Given the description of an element on the screen output the (x, y) to click on. 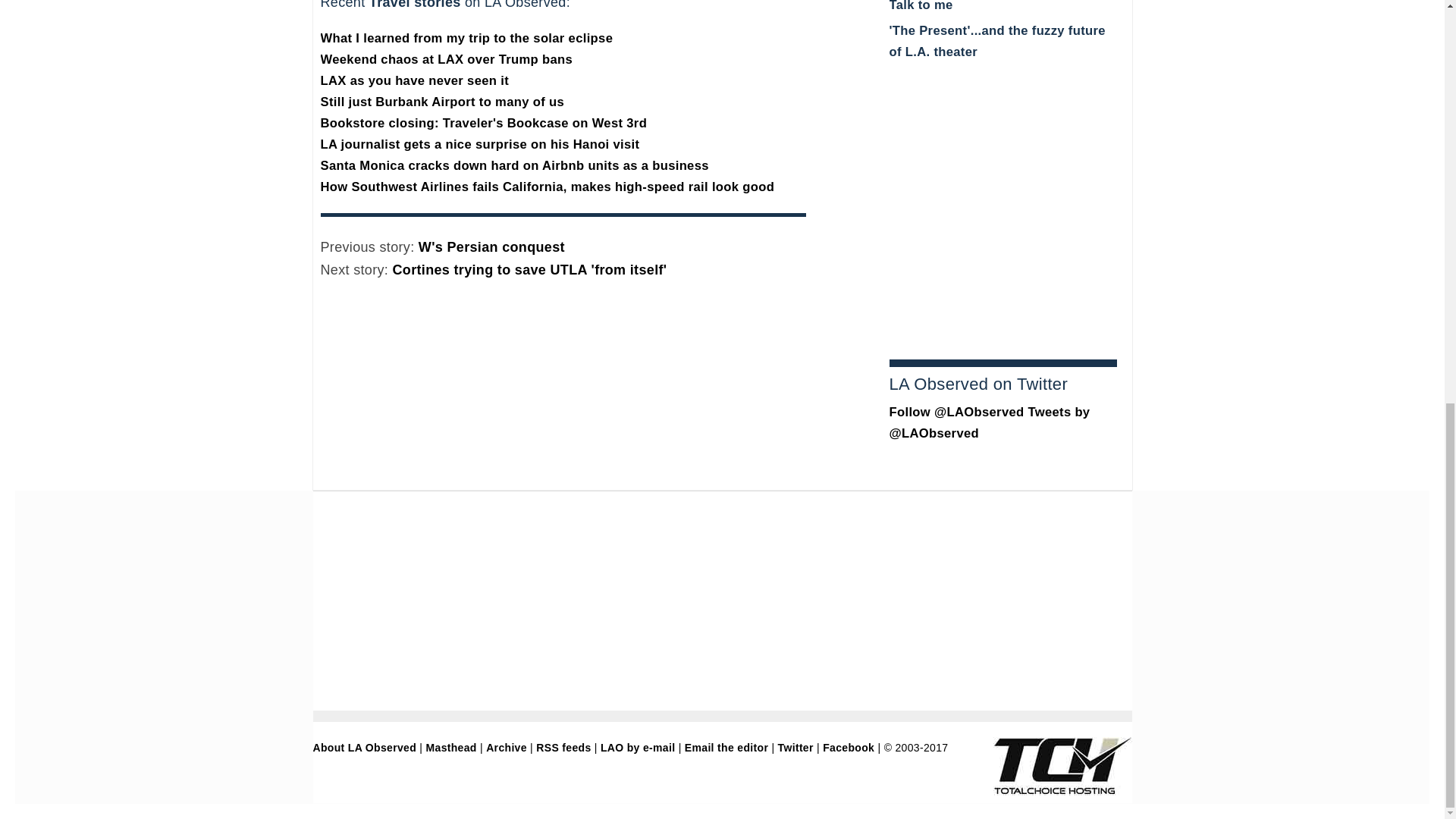
What I learned from my trip to the solar eclipse (466, 38)
Masthead (451, 747)
Bookstore closing: Traveler's Bookcase on West 3rd (483, 123)
Santa Monica cracks down hard on Airbnb units as a business (513, 165)
RSS feeds (563, 747)
Email the editor (726, 747)
Still just Burbank Airport to many of us (442, 101)
Talk to me (920, 6)
'The Present'...and the fuzzy future of L.A. theater (996, 40)
Twitter (795, 747)
LAO by e-mail (637, 747)
Cortines trying to save UTLA 'from itself' (529, 269)
Advertisement (1002, 242)
Facebook (848, 747)
